Given the description of an element on the screen output the (x, y) to click on. 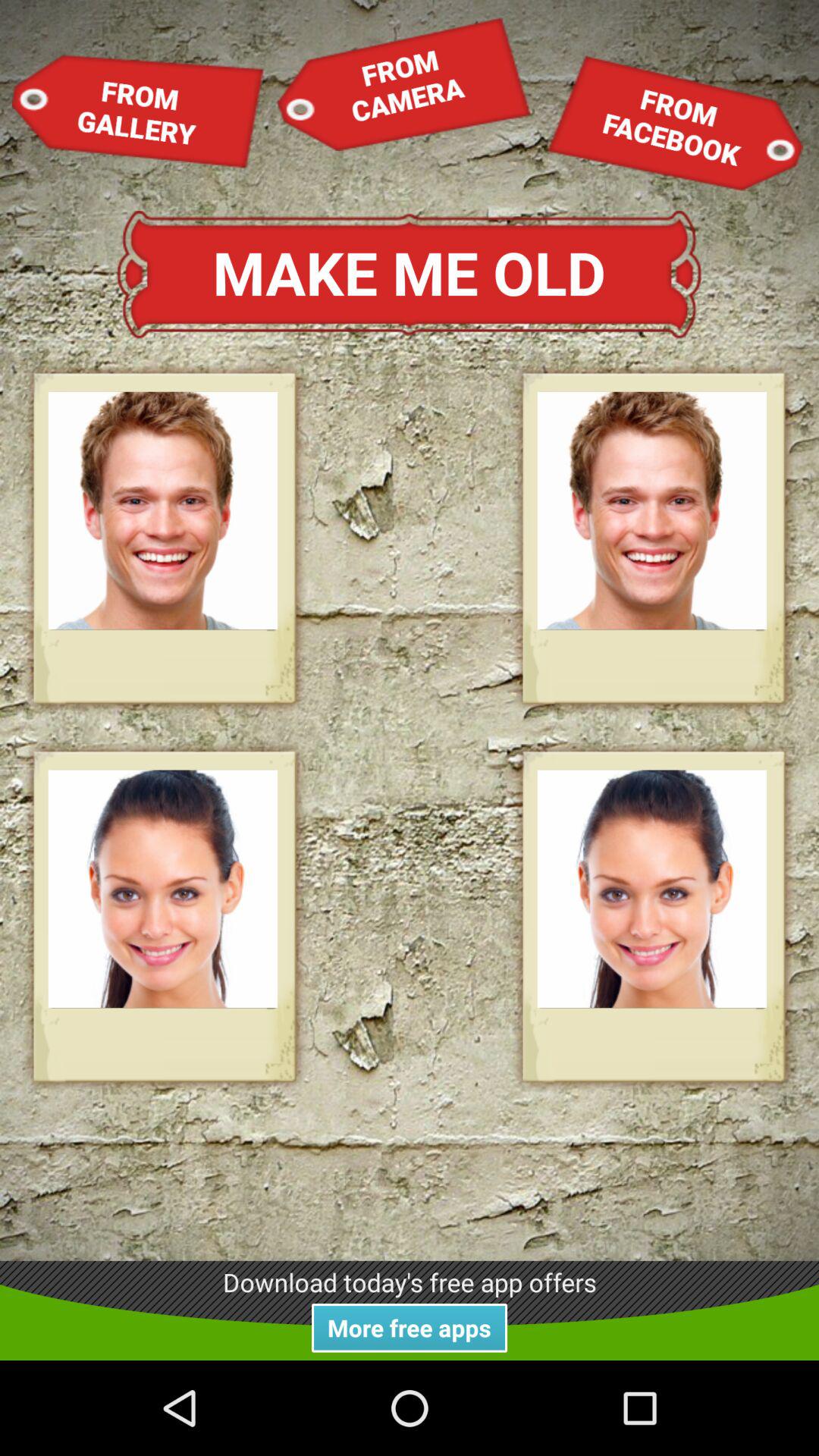
turn on item at the top left corner (137, 110)
